Given the description of an element on the screen output the (x, y) to click on. 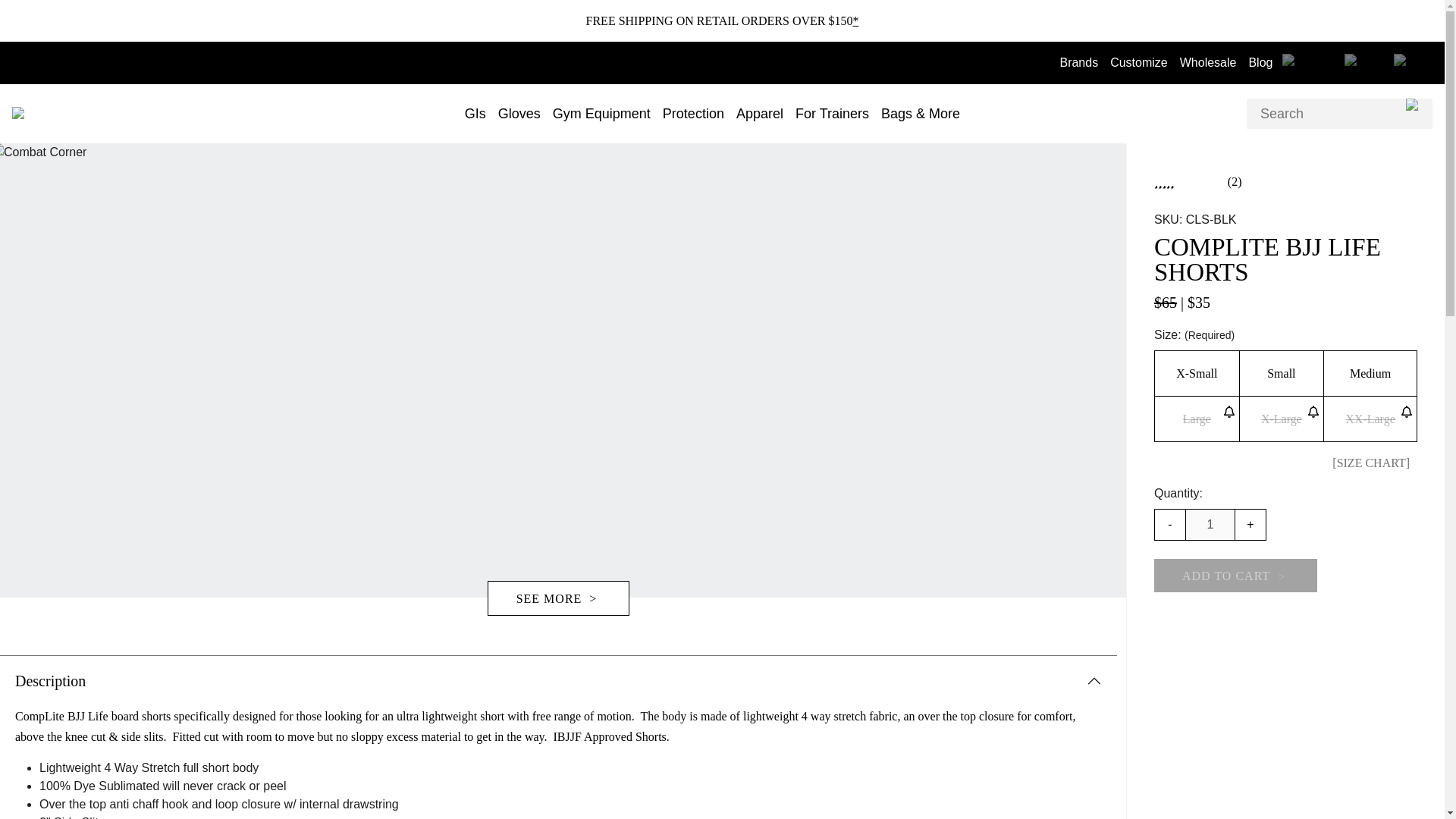
Medium (1369, 373)
Large (1195, 418)
Brands (1077, 62)
Gym Equipment (601, 113)
XX-Large (1369, 418)
Small (1281, 373)
X-Large (1281, 418)
Customize (1138, 62)
Blog (1259, 62)
Wholesale (1208, 62)
